Given the description of an element on the screen output the (x, y) to click on. 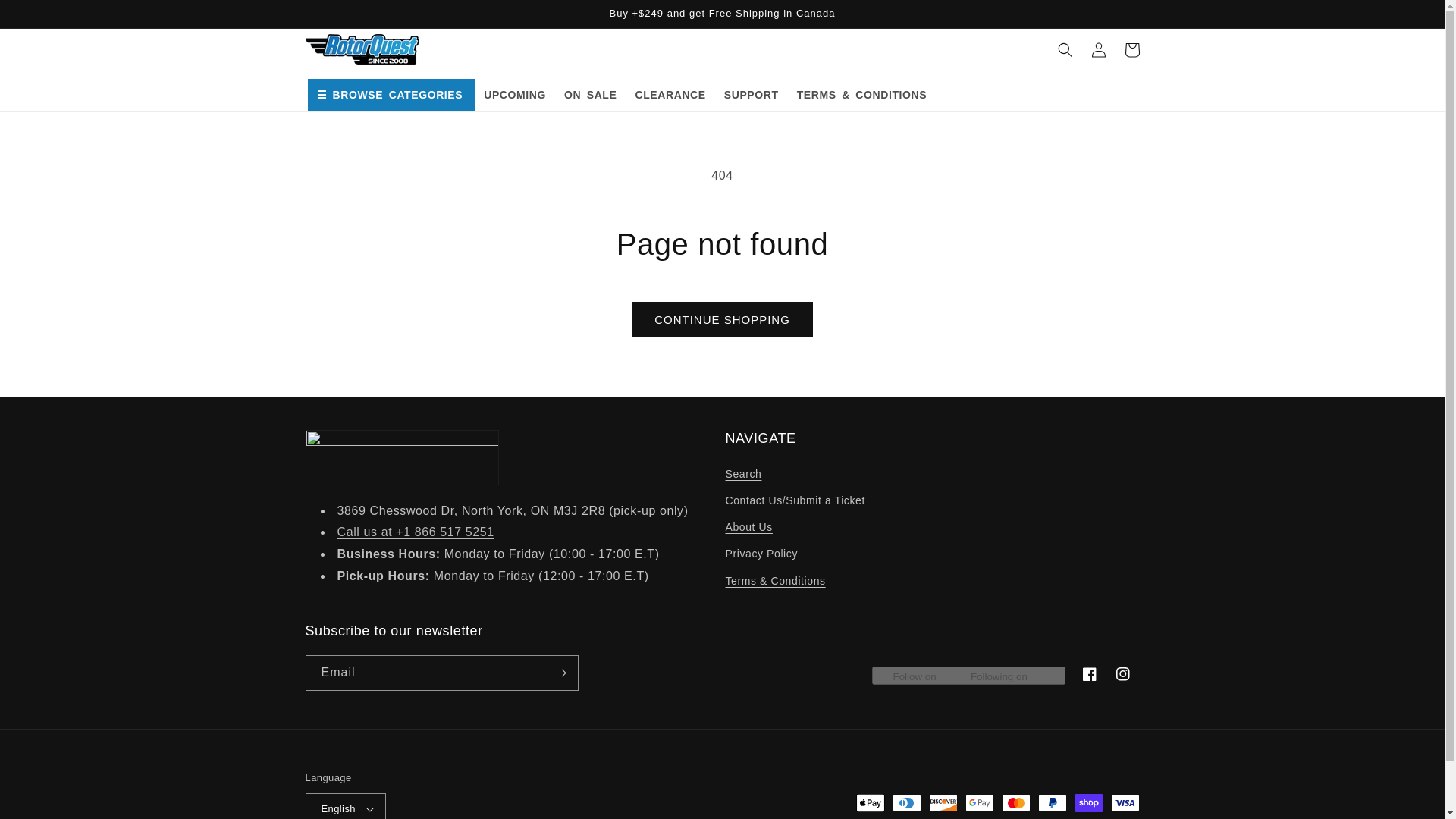
SKIP TO CONTENT (45, 17)
